Given the description of an element on the screen output the (x, y) to click on. 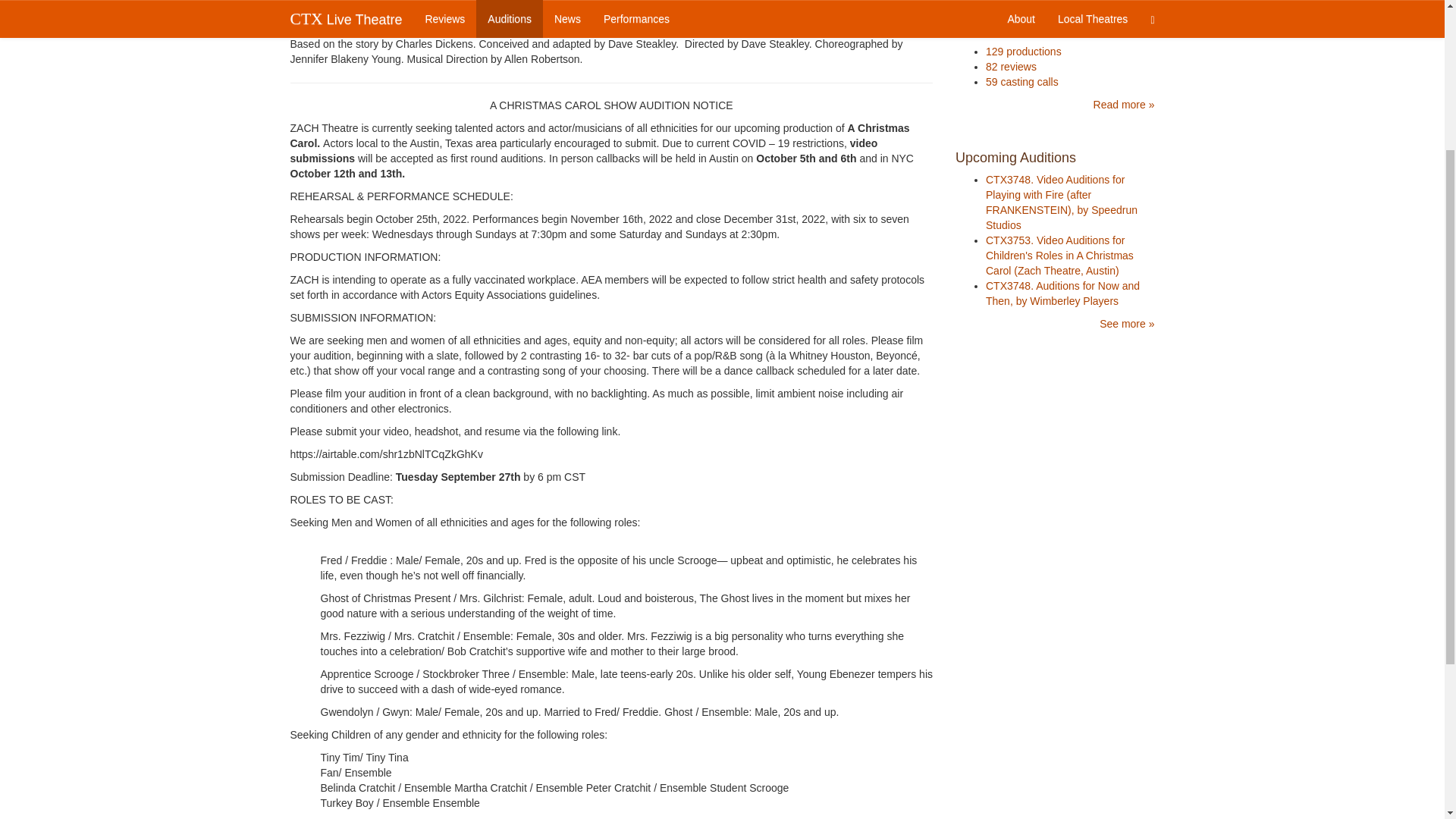
59 casting calls (1021, 81)
82 reviews (1010, 66)
129 productions (1023, 51)
CTX3748. Auditions for Now and Then, by Wimberley Players (1062, 293)
